Given the description of an element on the screen output the (x, y) to click on. 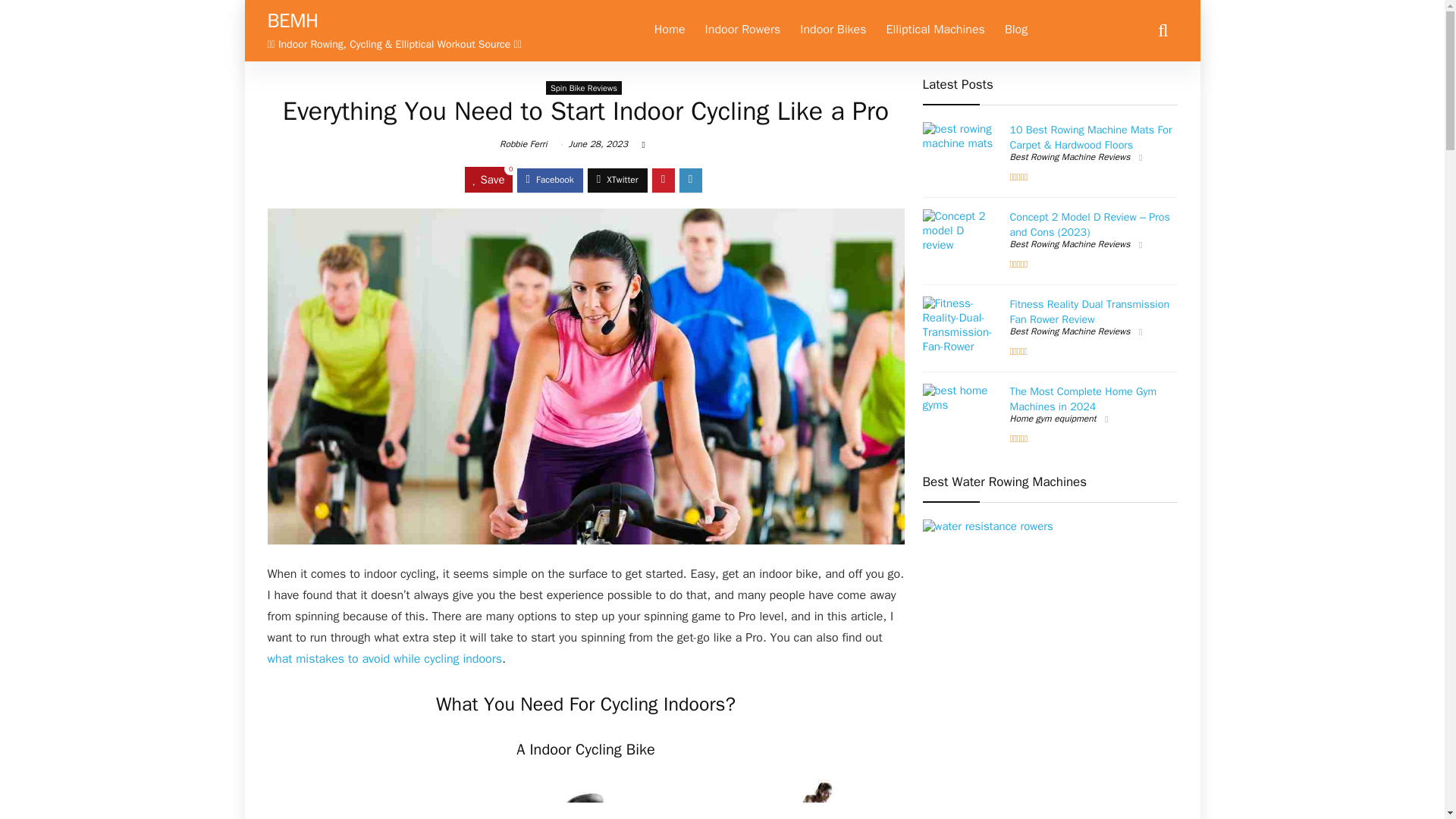
Indoor Rowers (742, 30)
Indoor Bikes (833, 30)
Home (670, 30)
Blog (1015, 30)
Elliptical Machines (935, 30)
View all posts in Spin Bike Reviews (583, 88)
Robbie Ferri (523, 143)
what mistakes to avoid while cycling indoors (384, 658)
Spin Bike Reviews (583, 88)
